Given the description of an element on the screen output the (x, y) to click on. 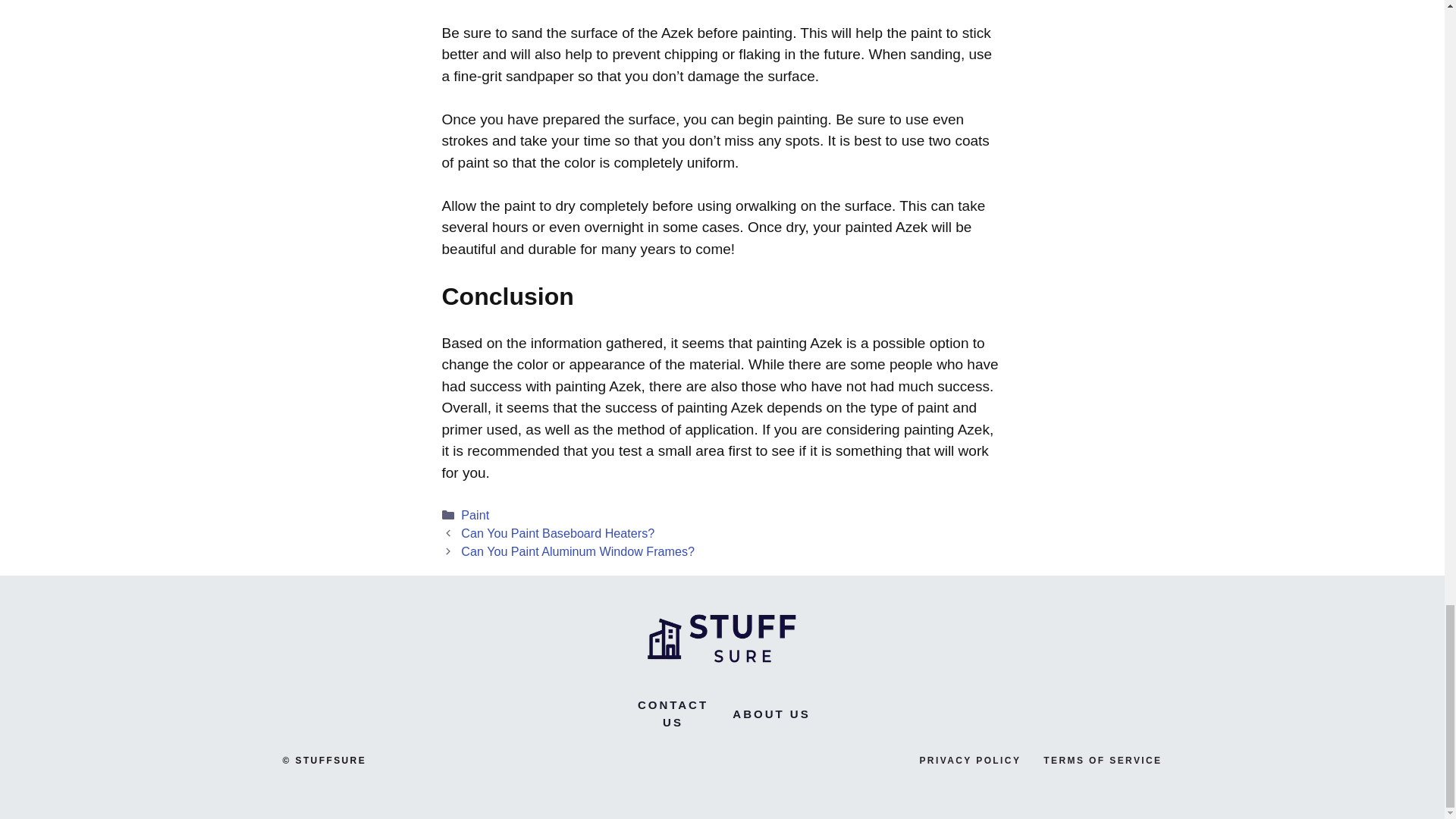
stuffsure-logo (721, 636)
